Given the description of an element on the screen output the (x, y) to click on. 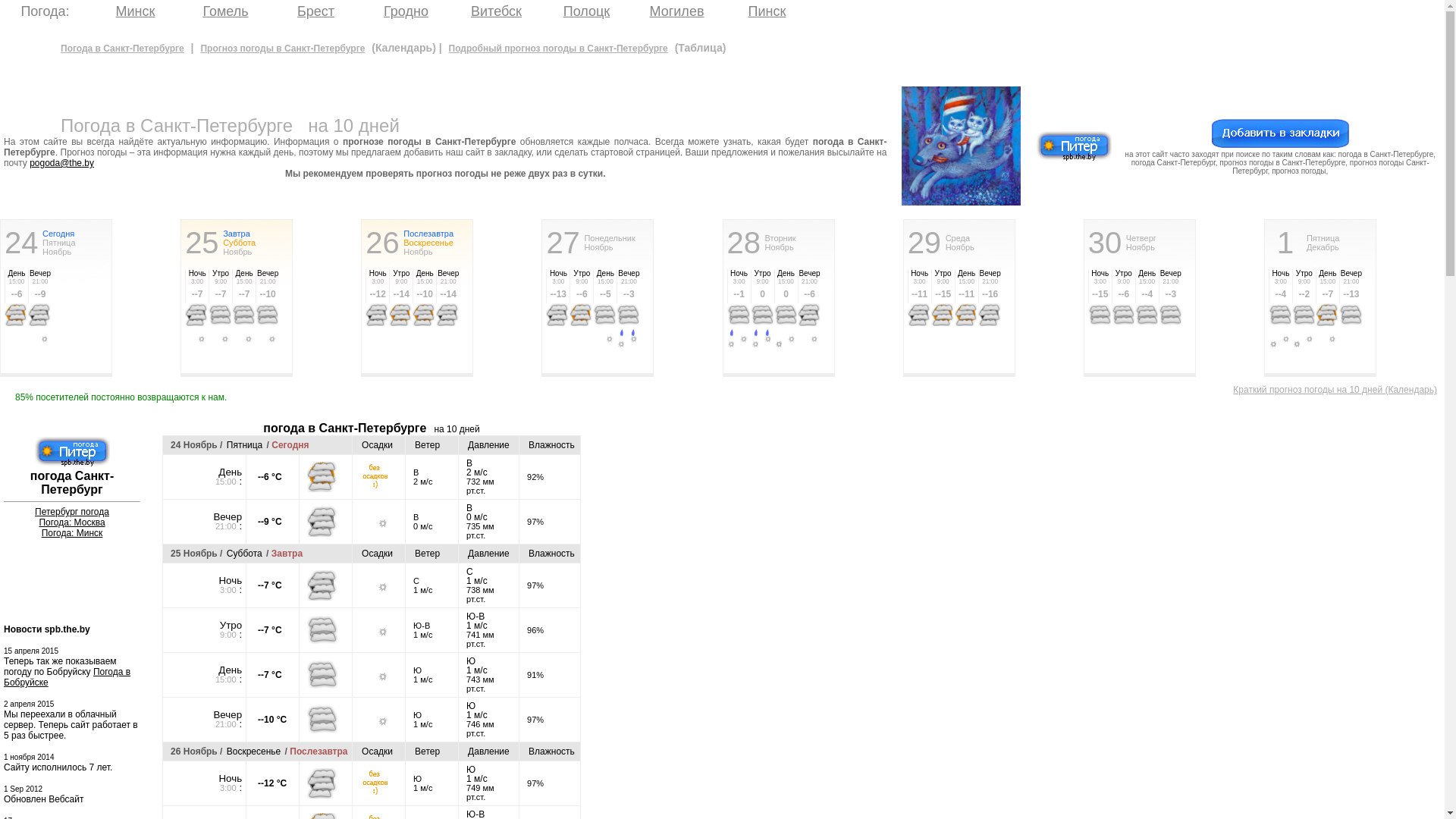
pogoda@the.by Element type: text (61, 162)
